Given the description of an element on the screen output the (x, y) to click on. 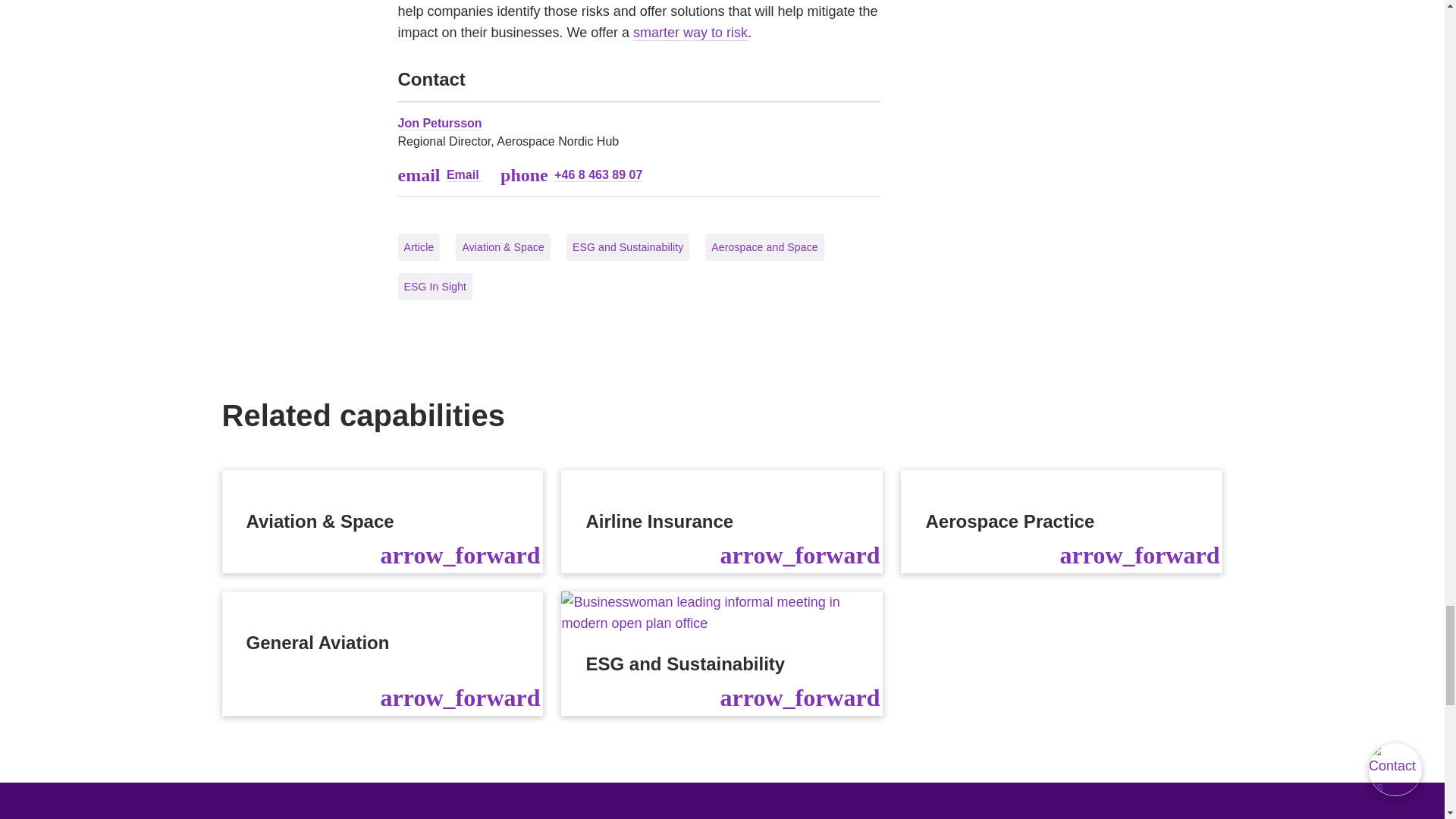
ESG and Sustainability (721, 653)
Airline Insurance (721, 521)
Aerospace Practice (1062, 521)
General Aviation (382, 653)
